Given the description of an element on the screen output the (x, y) to click on. 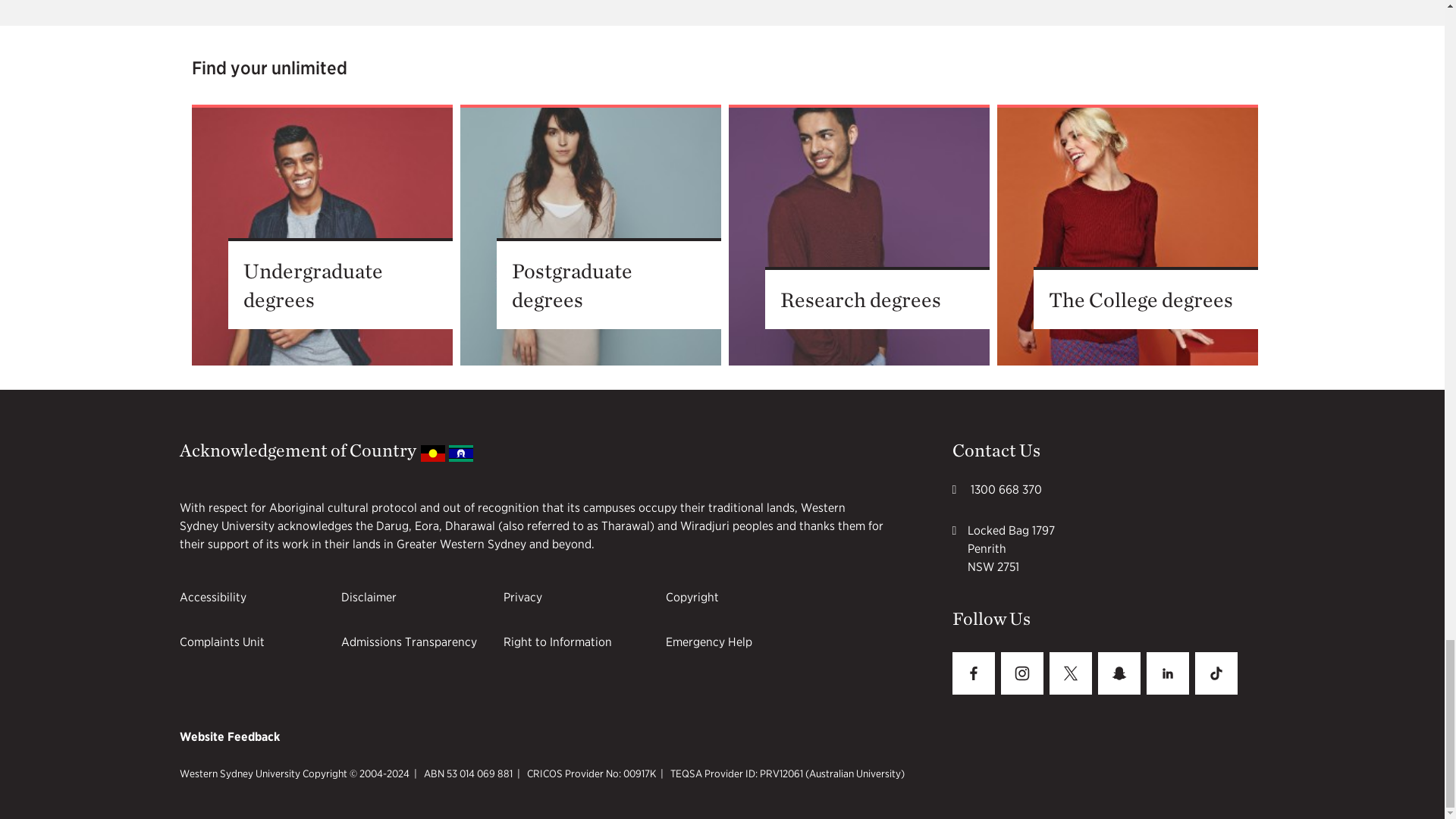
Research degrees (858, 234)
The College degrees (1126, 234)
Website Feedback (229, 736)
Undergraduate degrees (320, 234)
Postgraduate degrees (590, 234)
